Given the description of an element on the screen output the (x, y) to click on. 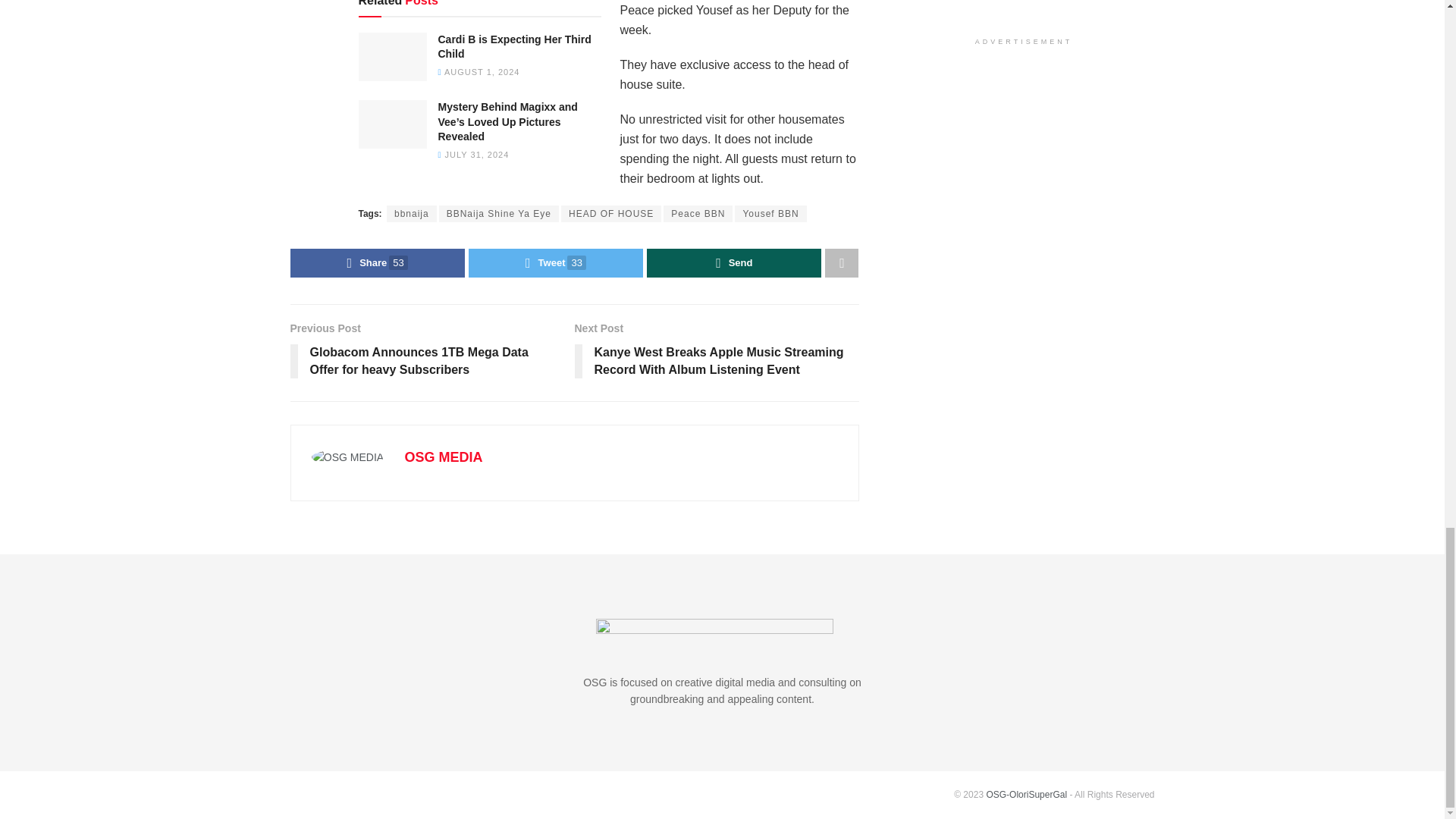
OSG-OloriSuperGal (1026, 794)
